Given the description of an element on the screen output the (x, y) to click on. 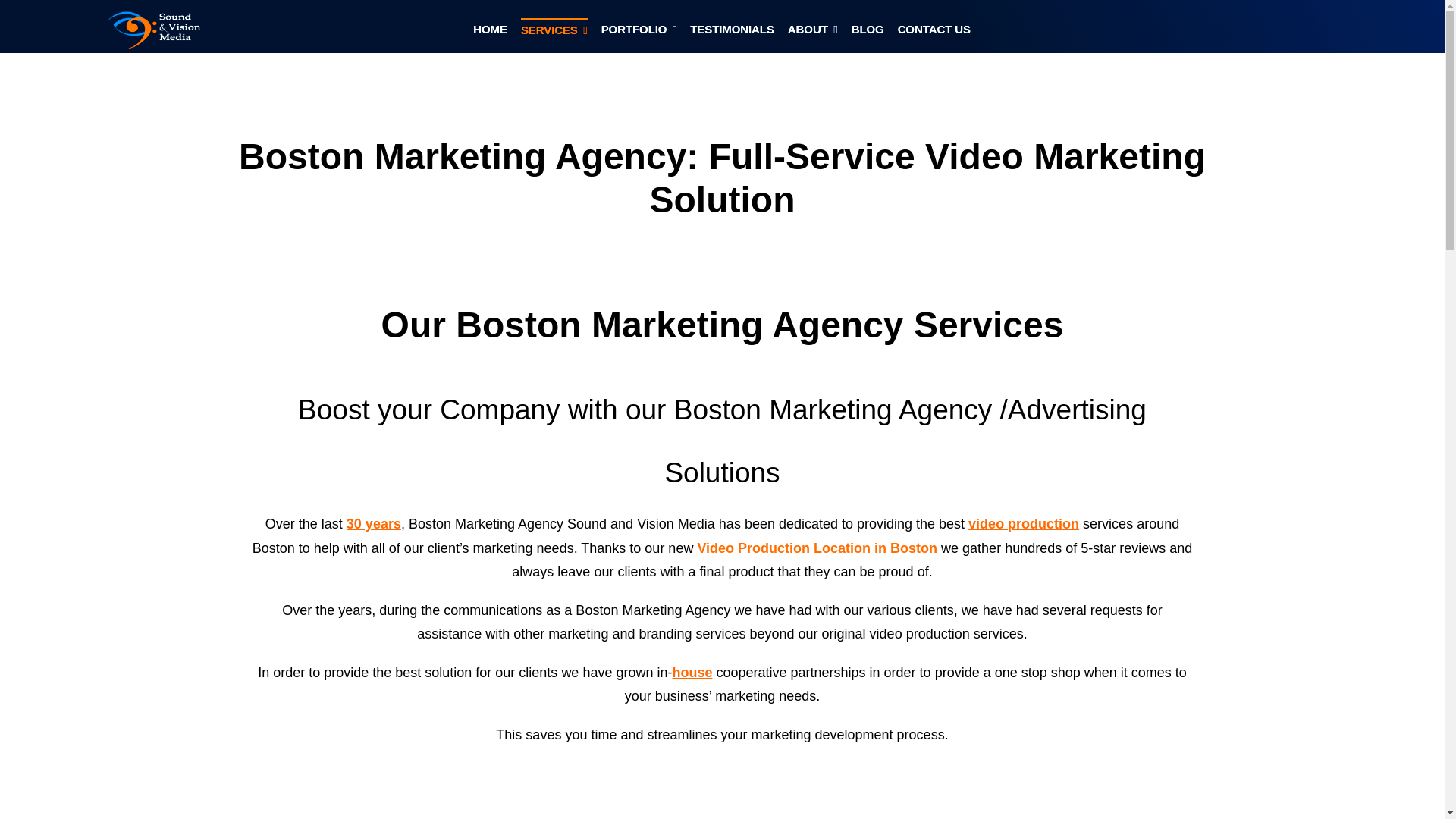
house (691, 672)
HOME (489, 33)
Video Production Location in Boston (817, 547)
30 years (373, 523)
TESTIMONIALS (732, 33)
SERVICES (554, 34)
BLOG (867, 33)
PORTFOLIO (639, 33)
video production (1023, 523)
Boston Marketing Agency (159, 30)
ABOUT (812, 33)
CONTACT US (934, 33)
